Given the description of an element on the screen output the (x, y) to click on. 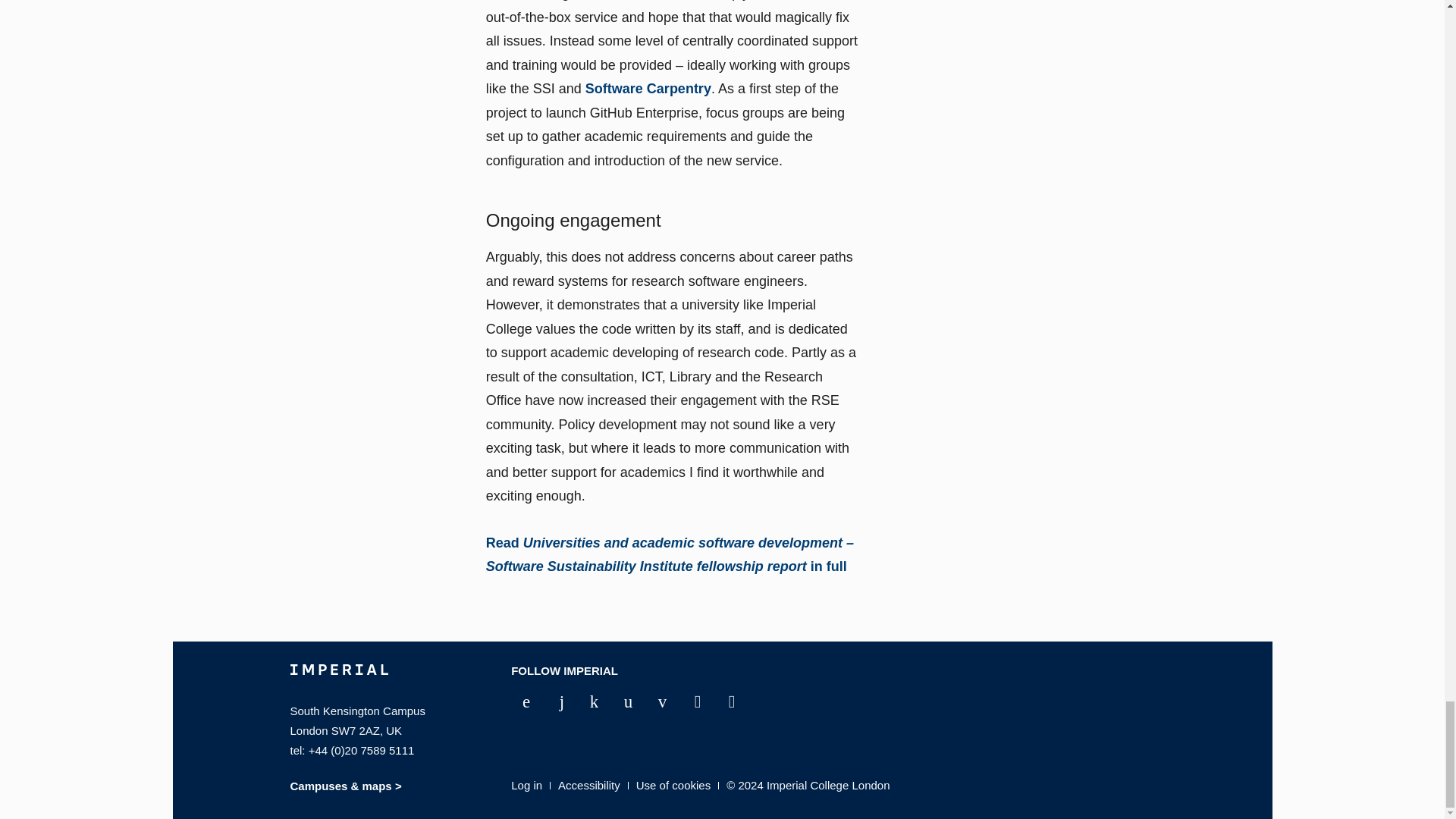
YouTube (588, 701)
Software Carpentry (648, 88)
LinkedIn (621, 701)
Facebook (520, 701)
Imperial College London (338, 682)
Twitter (554, 701)
